Given the description of an element on the screen output the (x, y) to click on. 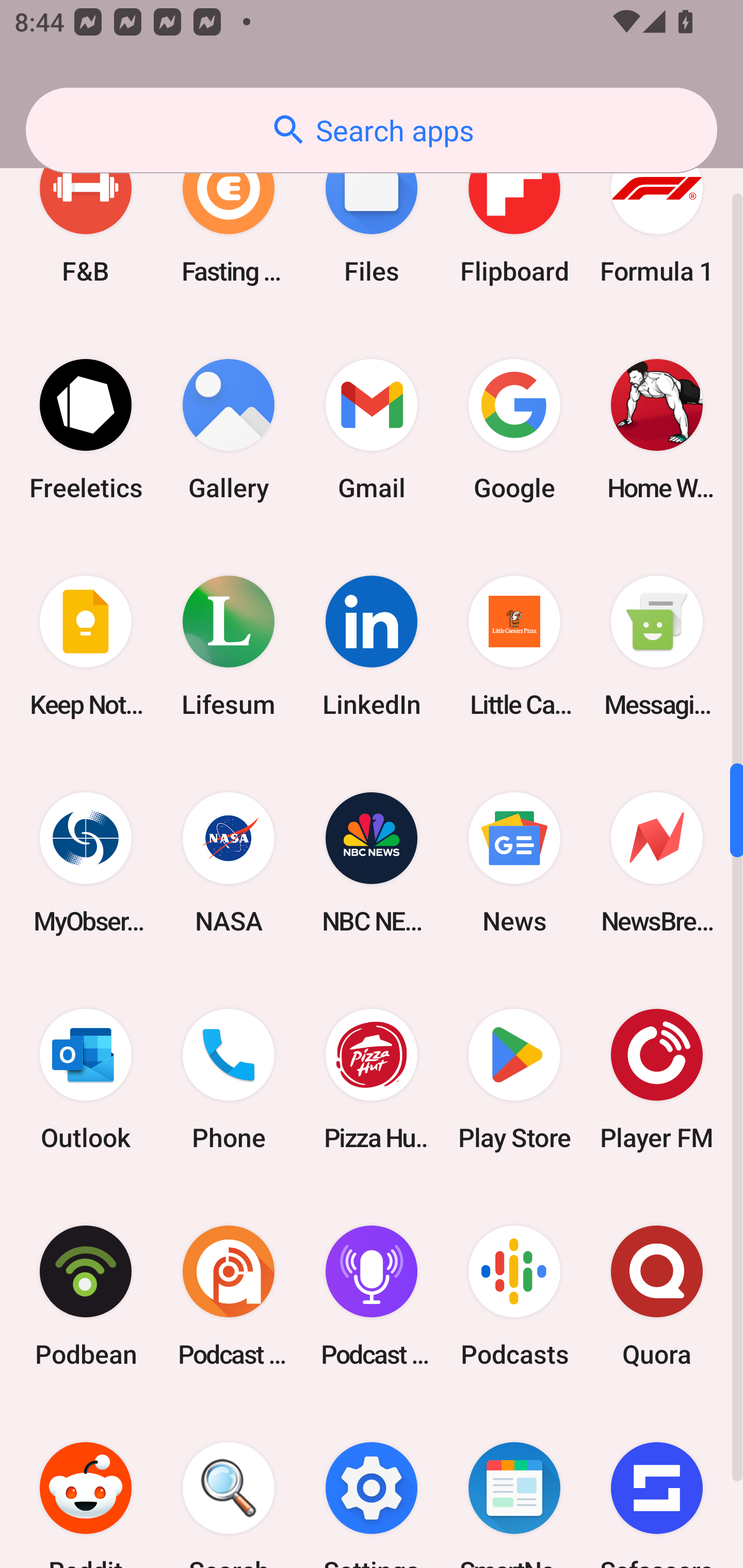
  Search apps (371, 130)
F&B (85, 213)
Fasting Coach (228, 213)
Files (371, 213)
Flipboard (514, 213)
Formula 1 (656, 213)
Freeletics (85, 429)
Gallery (228, 429)
Gmail (371, 429)
Google (514, 429)
Home Workout (656, 429)
Keep Notes (85, 645)
Lifesum (228, 645)
LinkedIn (371, 645)
Little Caesars Pizza (514, 645)
Messaging (656, 645)
MyObservatory (85, 862)
NASA (228, 862)
NBC NEWS (371, 862)
News (514, 862)
NewsBreak (656, 862)
Outlook (85, 1079)
Phone (228, 1079)
Pizza Hut HK & Macau (371, 1079)
Play Store (514, 1079)
Player FM (656, 1079)
Podbean (85, 1296)
Podcast Addict (228, 1296)
Podcast Player (371, 1296)
Podcasts (514, 1296)
Quora (656, 1296)
Reddit (85, 1486)
Search (228, 1486)
Settings (371, 1486)
SmartNews (514, 1486)
Sofascore (656, 1486)
